Given the description of an element on the screen output the (x, y) to click on. 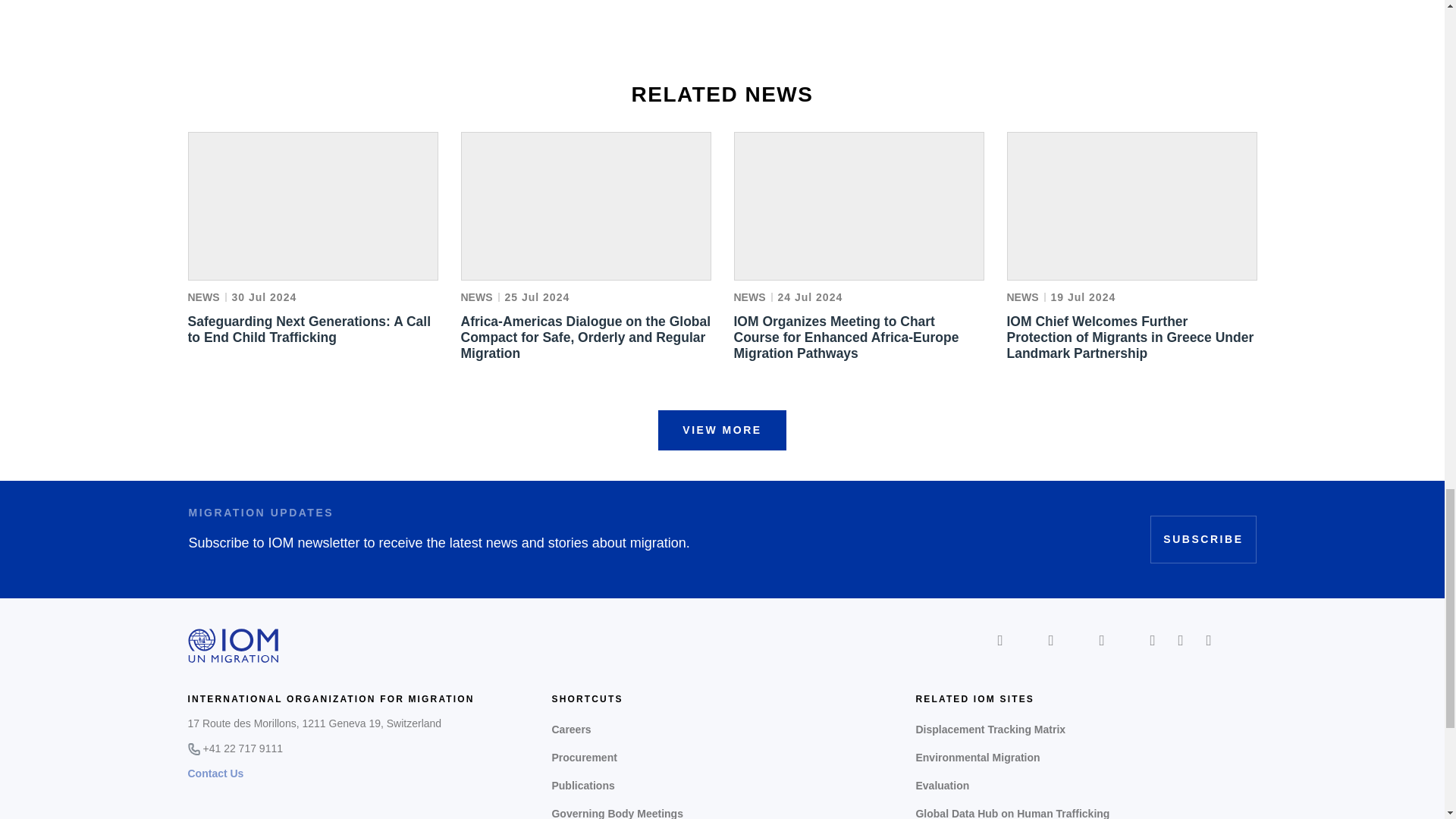
Governing Body Meetings (721, 809)
Home (233, 645)
